Given the description of an element on the screen output the (x, y) to click on. 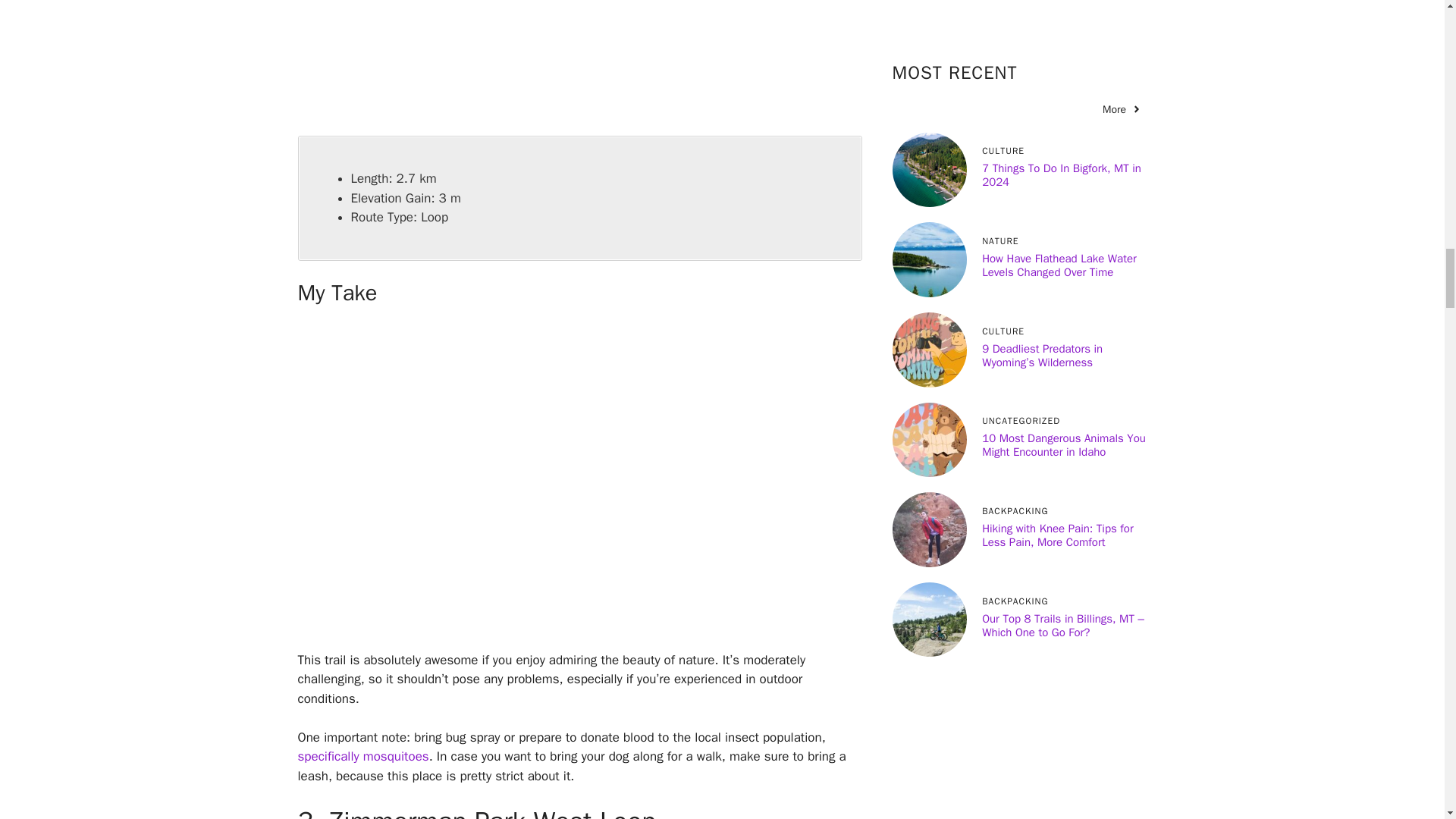
specifically mosquitoes (362, 756)
